Given the description of an element on the screen output the (x, y) to click on. 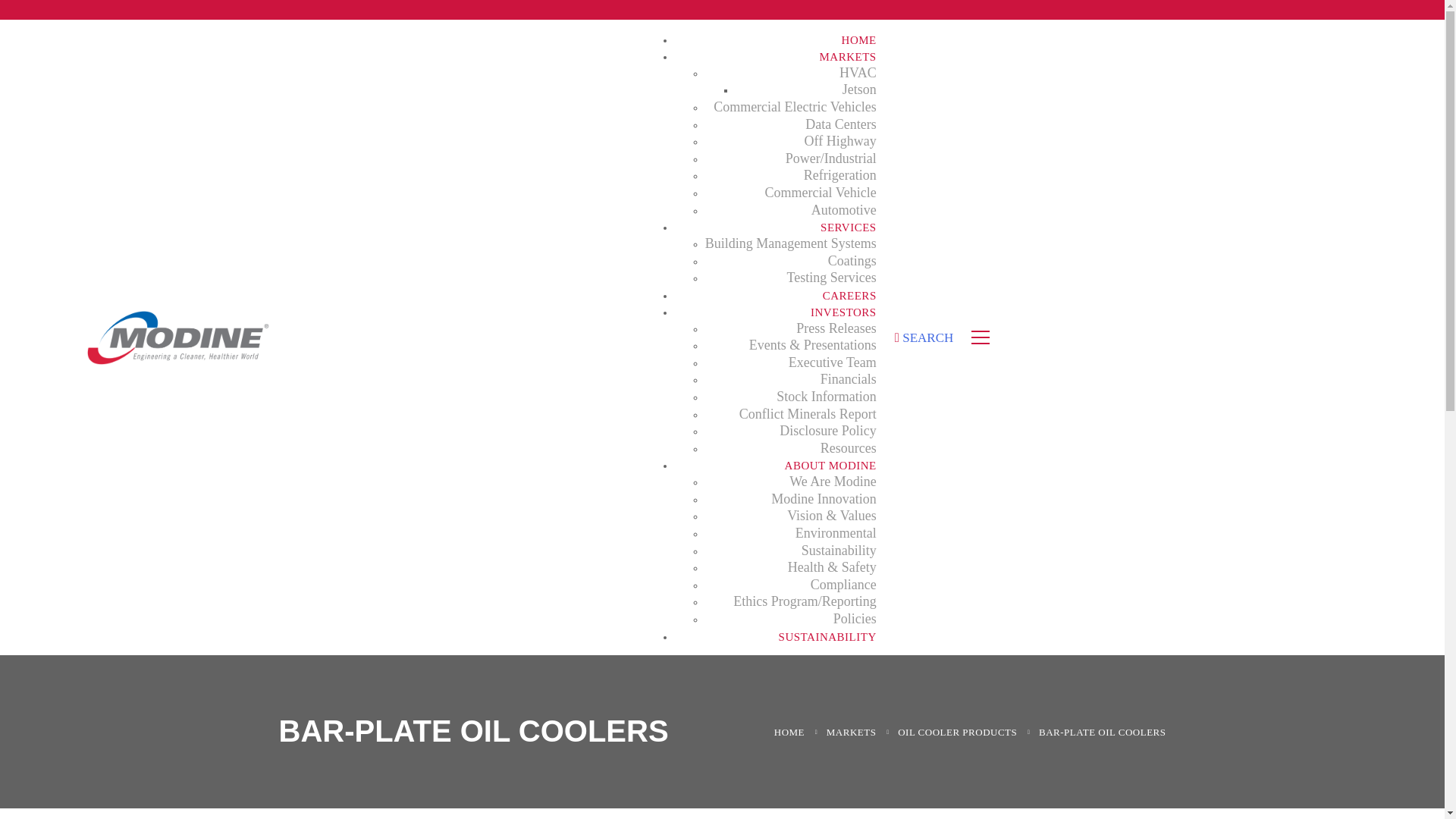
Sustainability (790, 550)
Conflict Minerals Report (790, 414)
Jetson (805, 89)
SERVICES (775, 227)
HVAC (790, 73)
MARKETS (851, 731)
Commercial Vehicle (790, 193)
Building Management Systems (790, 243)
Policies (790, 619)
Environmental (790, 533)
